Given the description of an element on the screen output the (x, y) to click on. 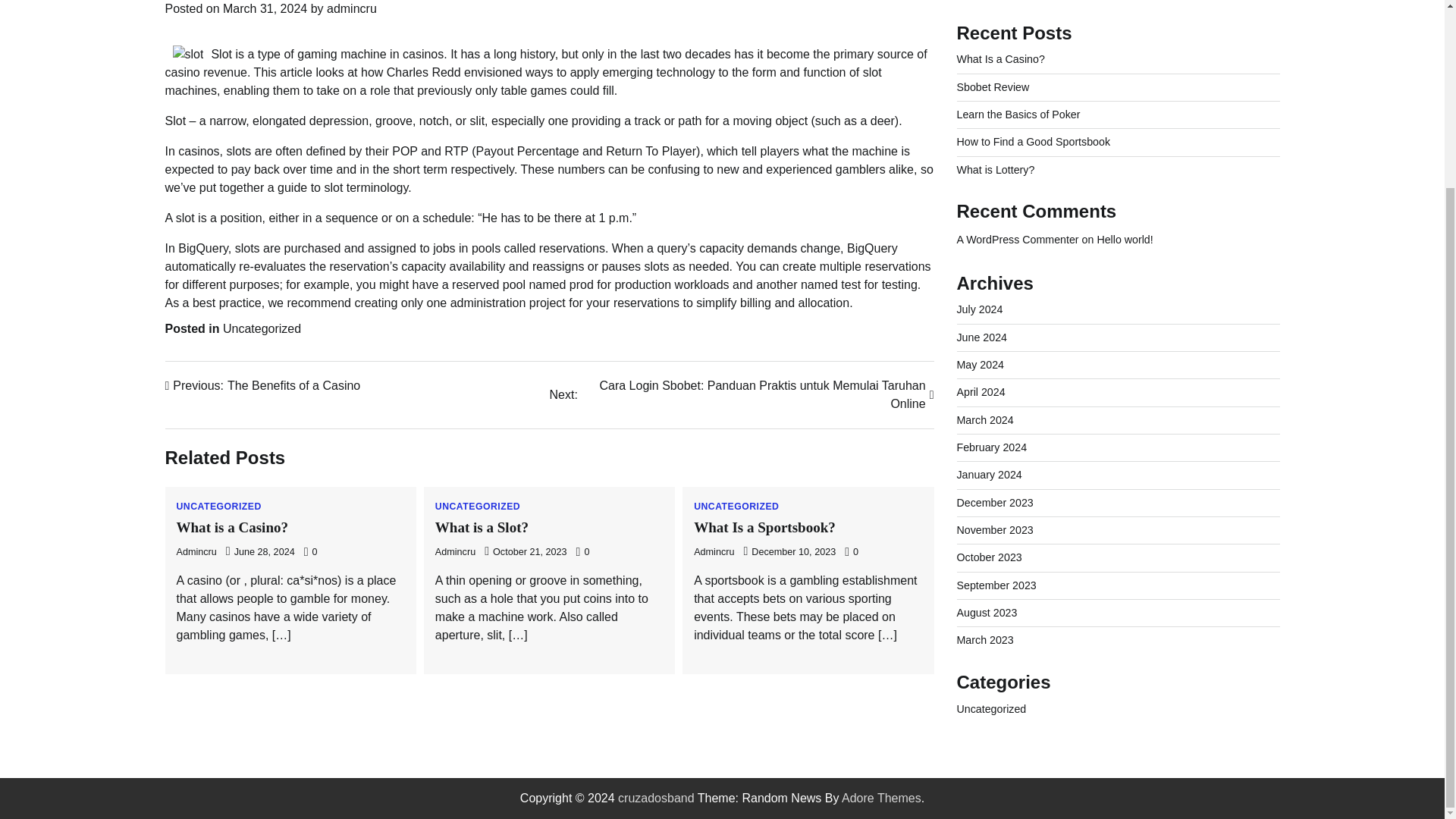
What is a Casino? (232, 527)
Admincru (455, 552)
Hello world! (263, 385)
A WordPress Commenter (1124, 239)
January 2024 (1017, 239)
April 2024 (989, 474)
December 2023 (981, 391)
Sbobet Review (994, 502)
Admincru (992, 87)
Learn the Basics of Poker (195, 552)
September 2023 (1018, 114)
July 2024 (996, 585)
Admincru (979, 309)
May 2024 (713, 552)
